Given the description of an element on the screen output the (x, y) to click on. 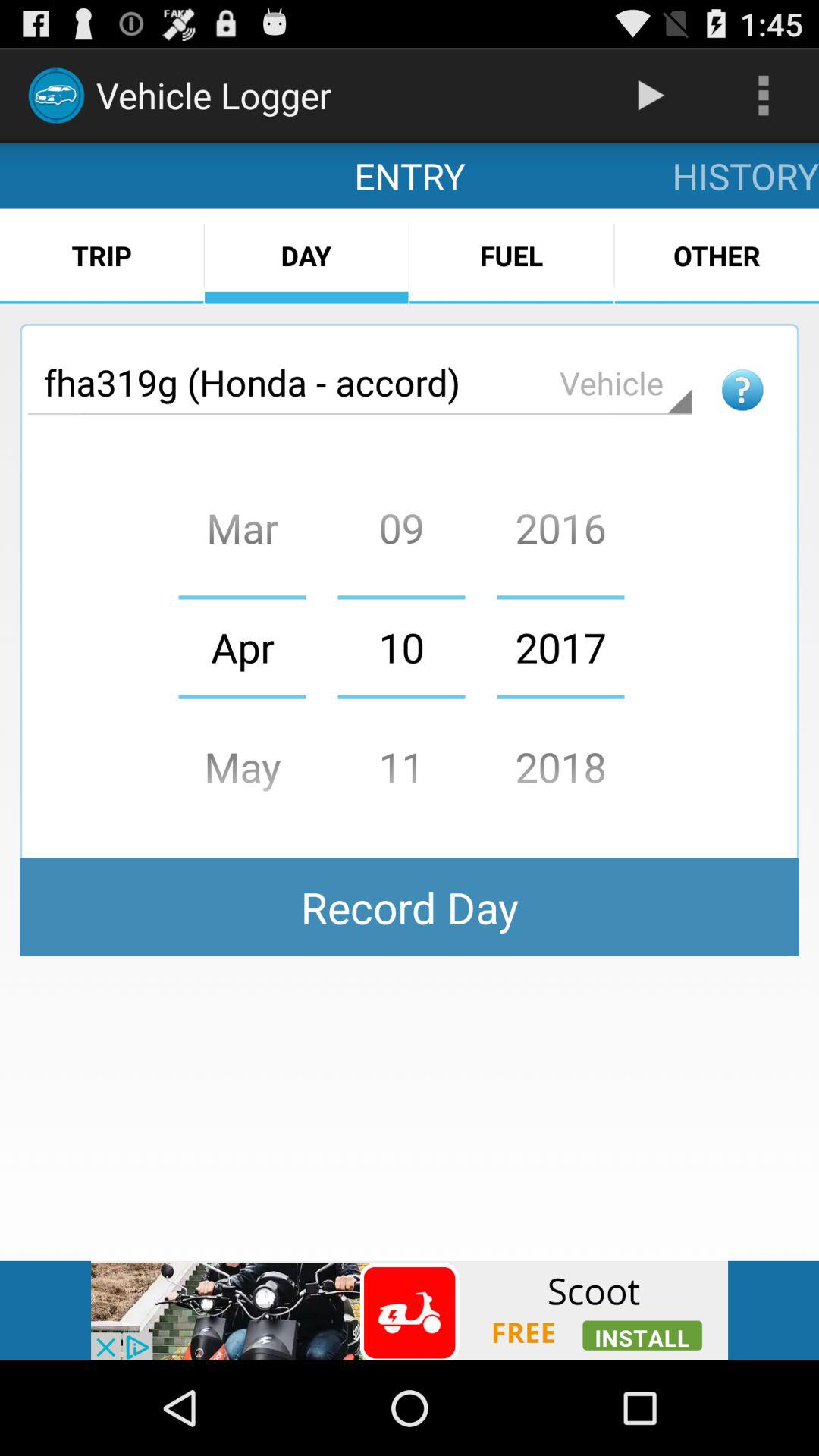
go to advertisement website (409, 1310)
